Given the description of an element on the screen output the (x, y) to click on. 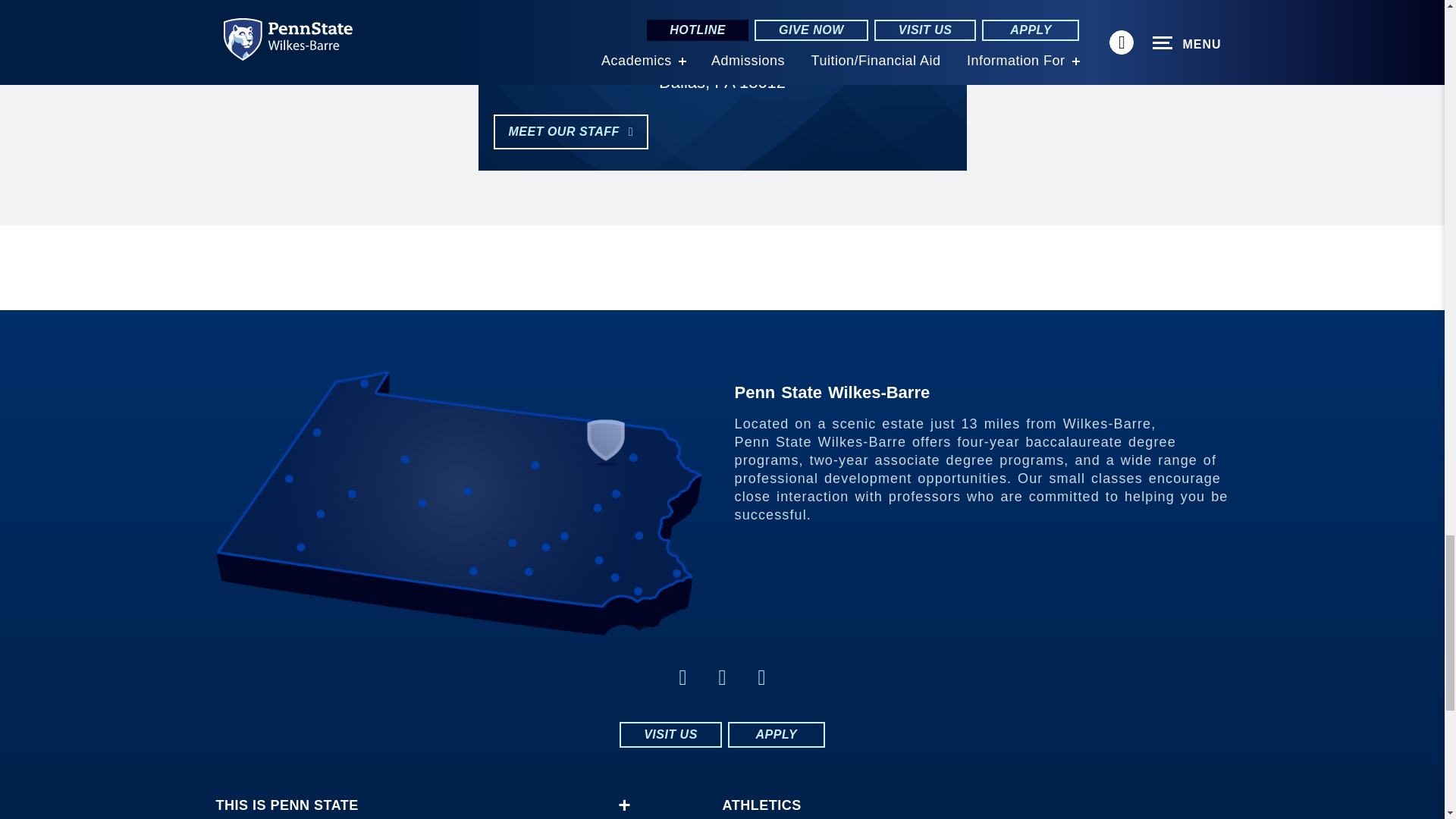
facebook (721, 677)
youtube (761, 677)
instagram (682, 677)
